Given the description of an element on the screen output the (x, y) to click on. 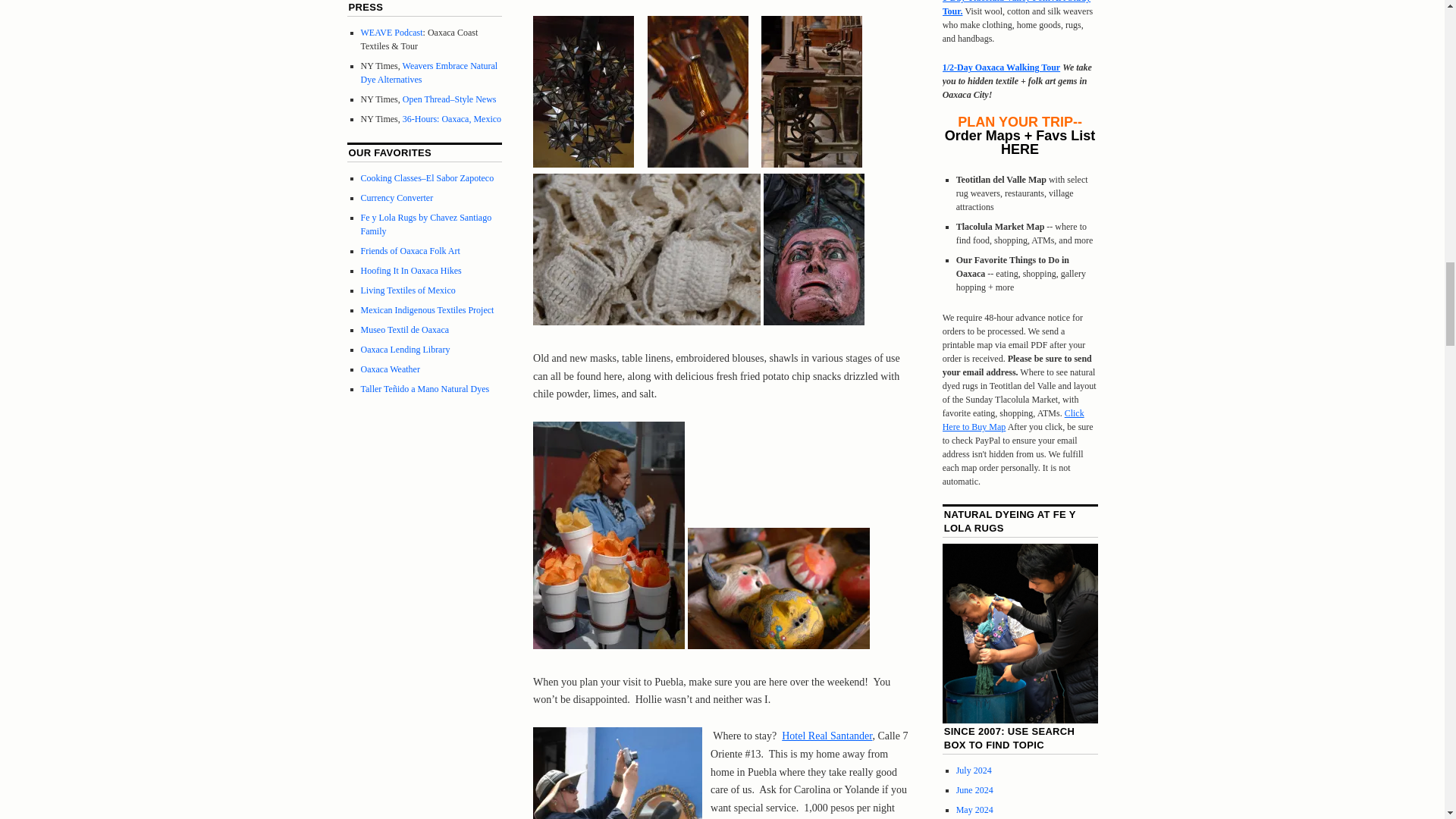
Hotel Real Santander (826, 736)
